Given the description of an element on the screen output the (x, y) to click on. 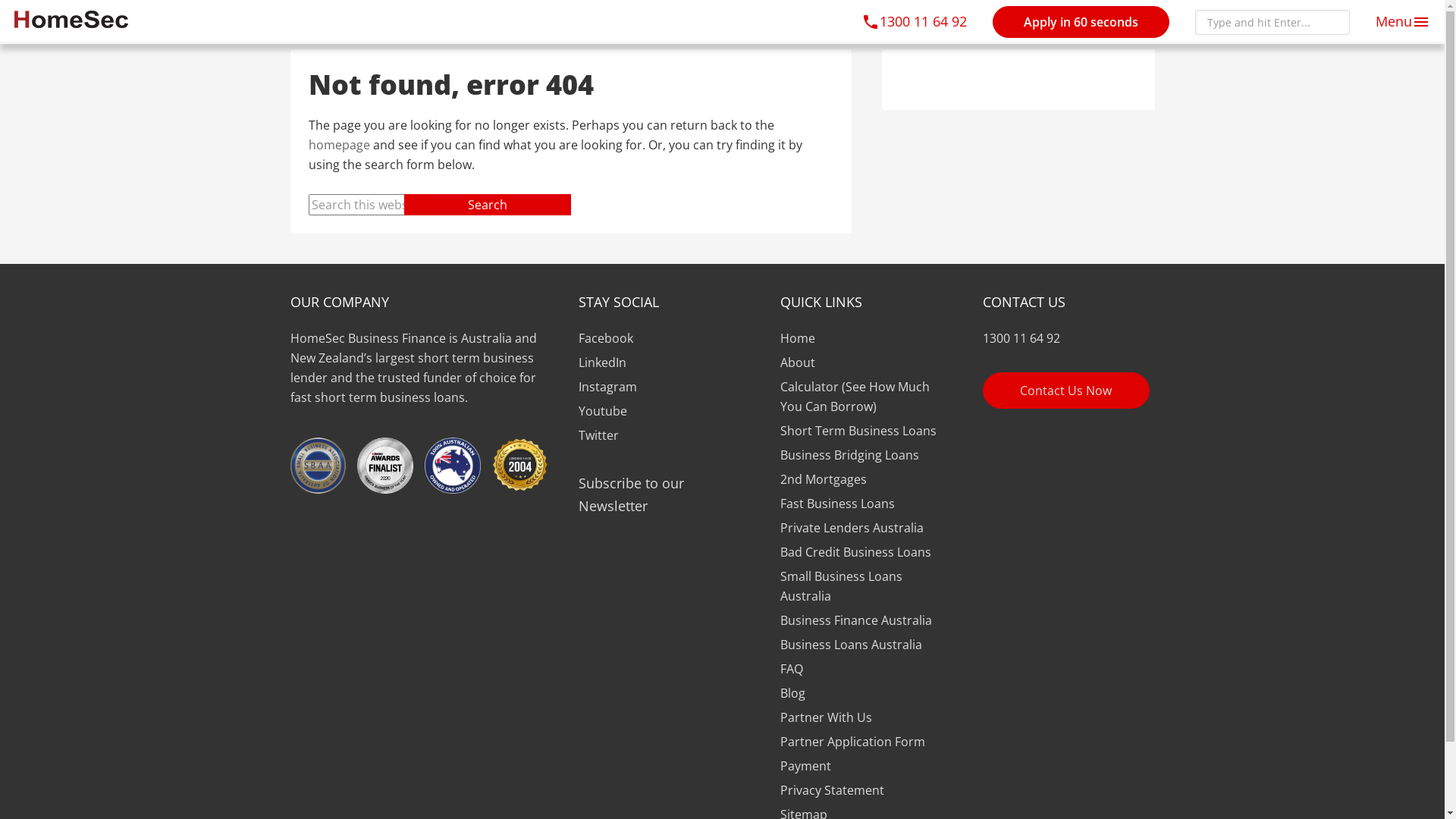
Bad Credit Business Loans Element type: text (855, 551)
Business Loans Australia Element type: text (851, 644)
Search Element type: text (486, 204)
Business Finance Australia Element type: text (855, 619)
Subscribe to our Newsletter Element type: text (663, 494)
LinkedIn Element type: text (601, 362)
Partner Application Form Element type: text (852, 741)
Short Term Business Loans Element type: text (858, 430)
Menu Element type: text (1402, 21)
Youtube Element type: text (601, 410)
Contact Us Now Element type: text (1065, 390)
Partner With Us Element type: text (826, 717)
Business Bridging Loans Element type: text (849, 454)
About Element type: text (797, 362)
homepage Element type: text (338, 144)
Home Element type: text (797, 337)
Homesec Business Finance Element type: hover (71, 13)
Homesec Business Finance Element type: hover (71, 19)
Facebook Element type: text (604, 337)
Fast Business Loans Element type: text (837, 503)
Private Lenders Australia Element type: text (851, 527)
Twitter Element type: text (597, 434)
FAQ Element type: text (791, 668)
Apply in 60 seconds Element type: text (1080, 21)
Blog Element type: text (792, 692)
1300 11 64 92 Element type: text (913, 21)
1300 11 64 92 Element type: text (1068, 338)
Instagram Element type: text (606, 386)
Payment Element type: text (805, 765)
2nd Mortgages Element type: text (823, 478)
Small Business Loans Australia Element type: text (841, 585)
Privacy Statement Element type: text (832, 789)
Calculator (See How Much You Can Borrow) Element type: text (854, 396)
